Given the description of an element on the screen output the (x, y) to click on. 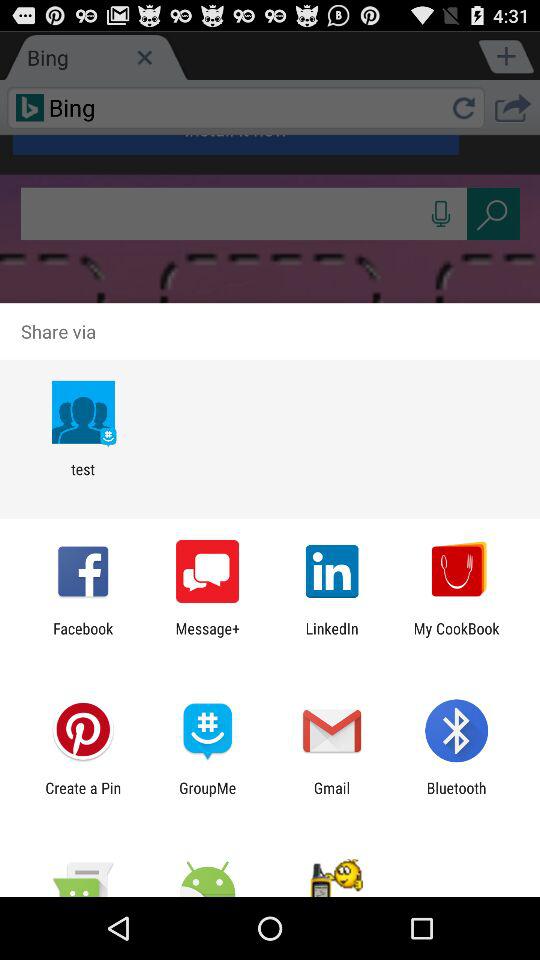
choose the item to the left of linkedin icon (207, 637)
